Given the description of an element on the screen output the (x, y) to click on. 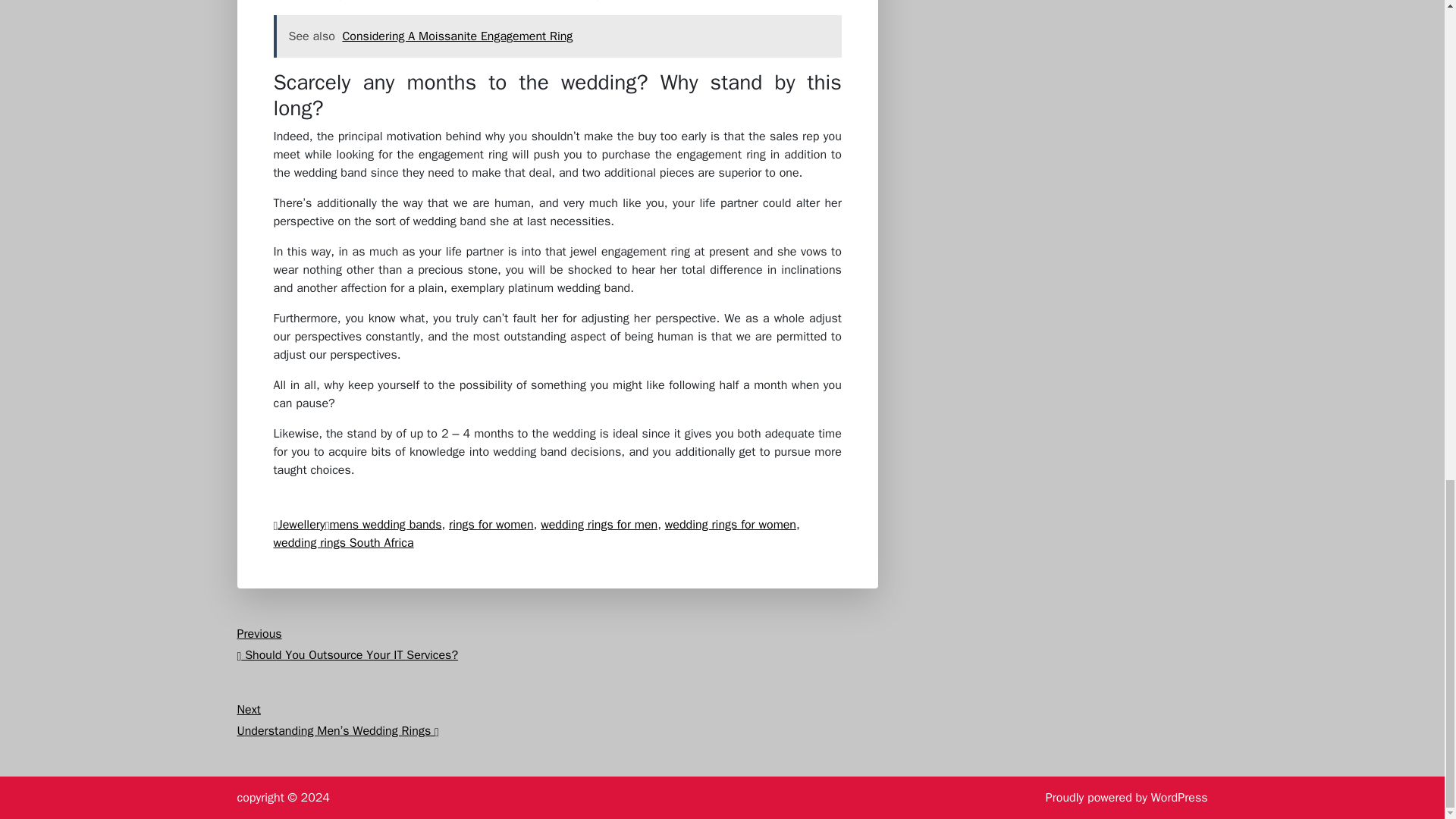
rings for women (491, 524)
wedding rings for women (730, 524)
mens wedding bands (385, 524)
Jewellery (301, 524)
wedding rings for men (599, 524)
wedding rings South Africa (343, 542)
See also  Considering A Moissanite Engagement Ring (557, 36)
